Given the description of an element on the screen output the (x, y) to click on. 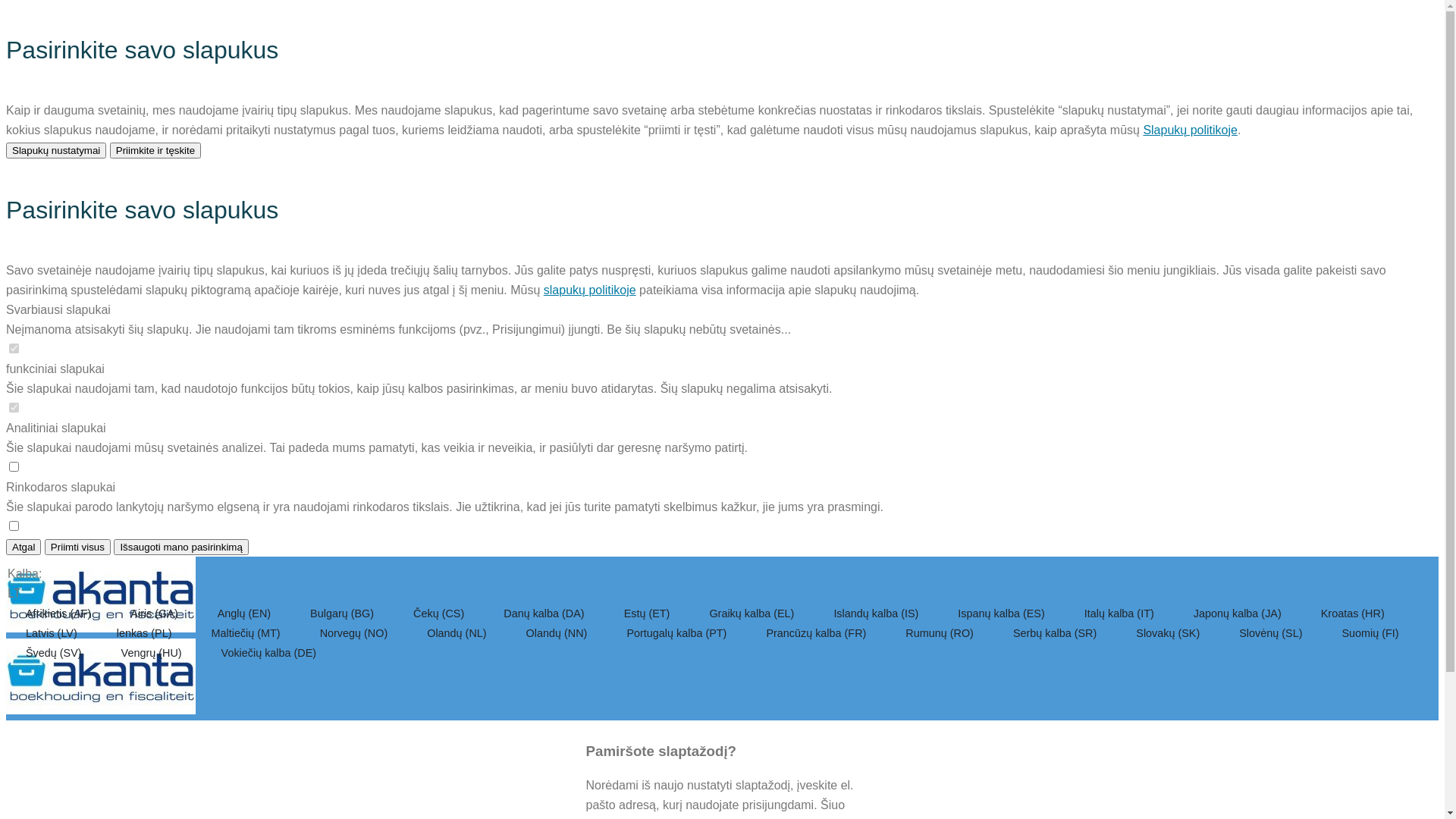
Kroatas (HR) Element type: text (1352, 613)
Afrikietis (AF) Element type: text (59, 613)
Latvis (LV) Element type: text (52, 633)
Atgal Element type: text (23, 547)
Priimti visus Element type: text (77, 547)
lenkas (PL) Element type: text (145, 633)
Airis (GA) Element type: text (155, 613)
